Given the description of an element on the screen output the (x, y) to click on. 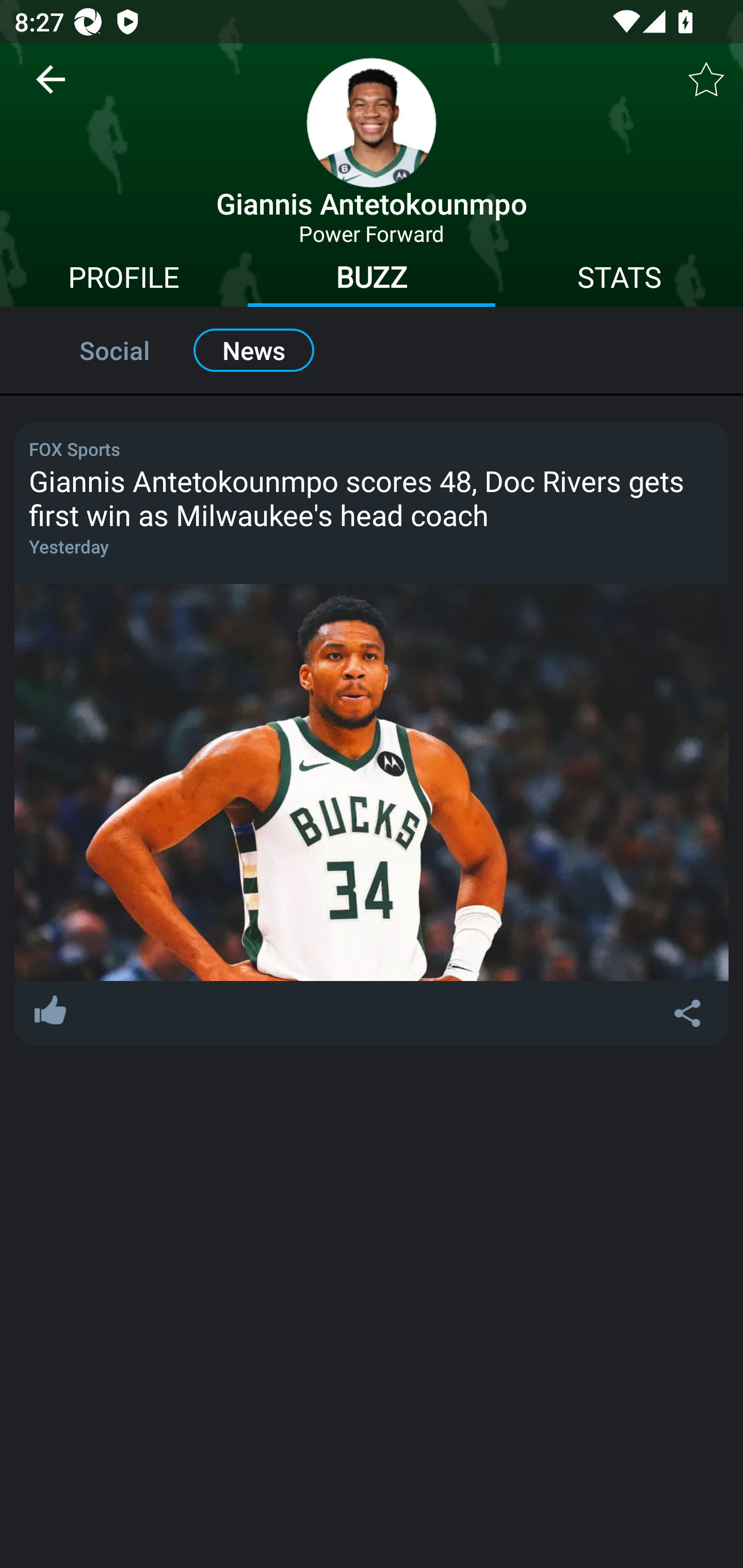
Navigate up (50, 86)
PROFILE (123, 279)
BUZZ (371, 279)
STATS (619, 279)
Social (93, 350)
